Given the description of an element on the screen output the (x, y) to click on. 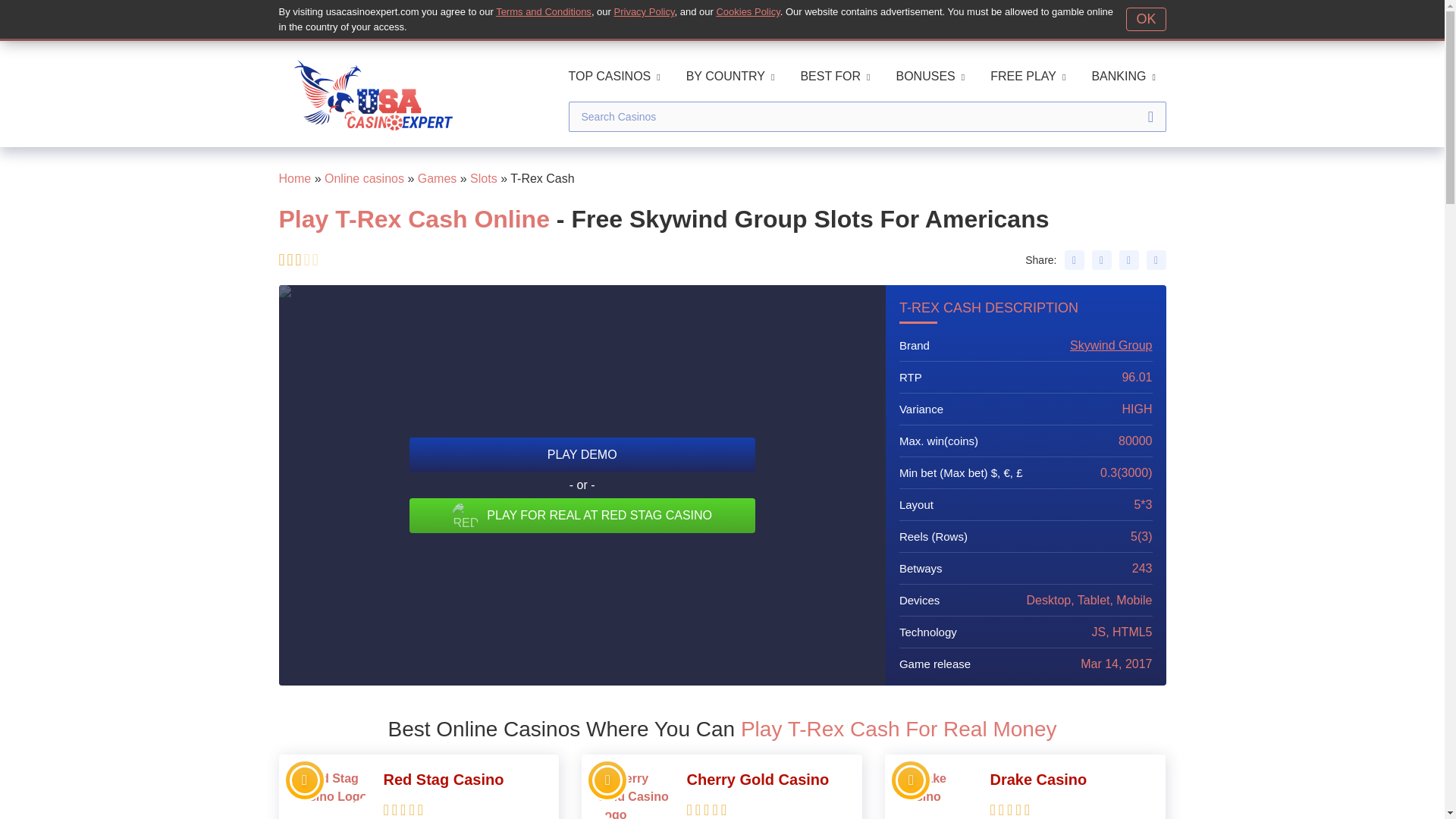
BEST FOR (834, 76)
Cookies Policy (747, 11)
Share on Facebook (1074, 260)
Terms and Conditions (543, 11)
OK (1145, 19)
Top 5 Casinos (607, 780)
Top 5 Casinos (910, 780)
TOP CASINOS (615, 76)
BY COUNTRY (729, 76)
Share on Twitter (1102, 260)
Share on Tumblr (1156, 260)
Share on Pinterest (1128, 260)
Privacy Policy (644, 11)
FREE PLAY (1027, 76)
BONUSES (930, 76)
